Given the description of an element on the screen output the (x, y) to click on. 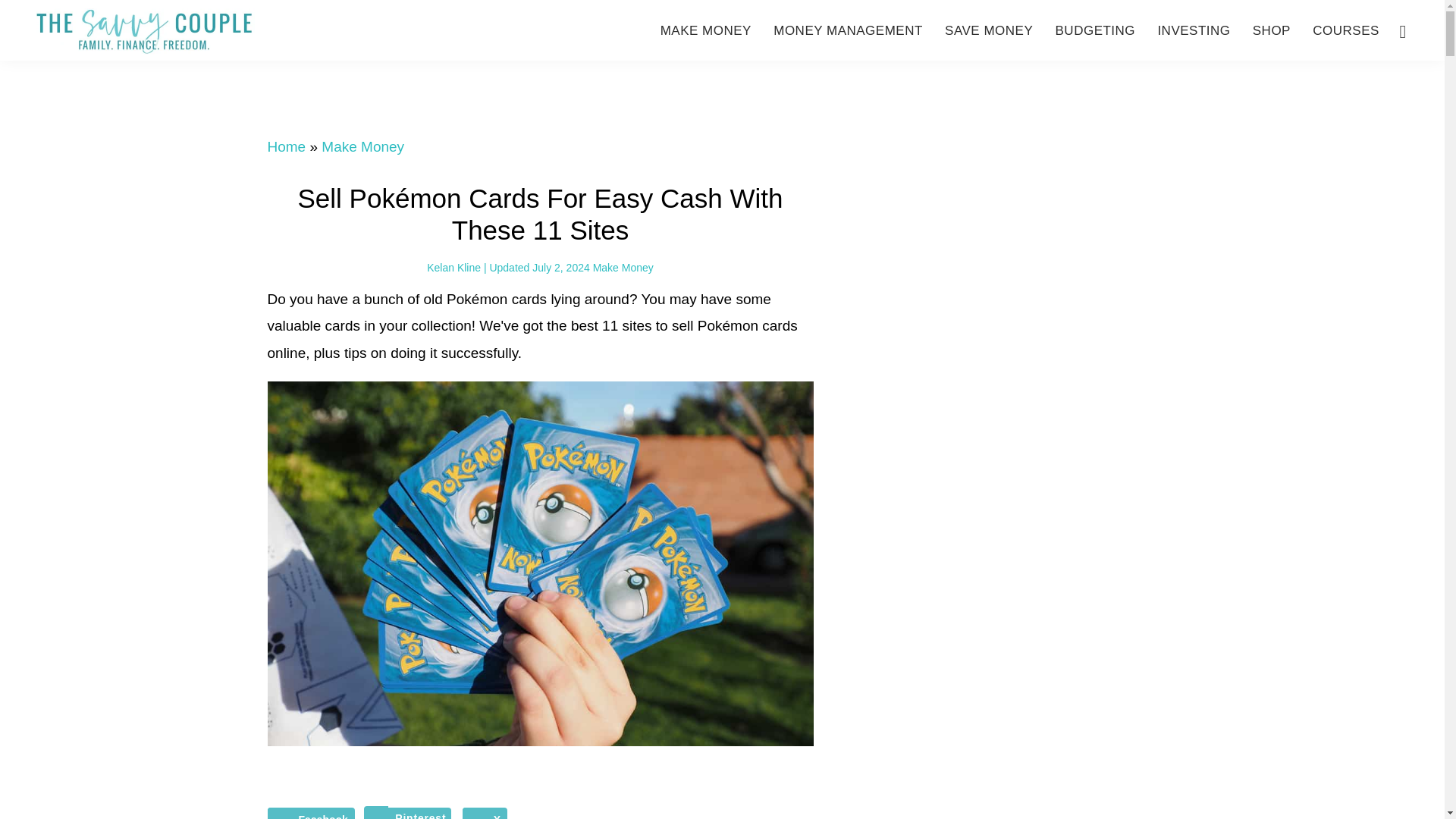
Make Money (362, 146)
X (484, 813)
INVESTING (1193, 30)
Share on Facebook (309, 813)
SAVE MONEY (989, 30)
THE SAVVY COUPLE (143, 31)
Share on X (484, 813)
Make Money (622, 267)
BUDGETING (1095, 30)
Kelan Kline (453, 267)
